Given the description of an element on the screen output the (x, y) to click on. 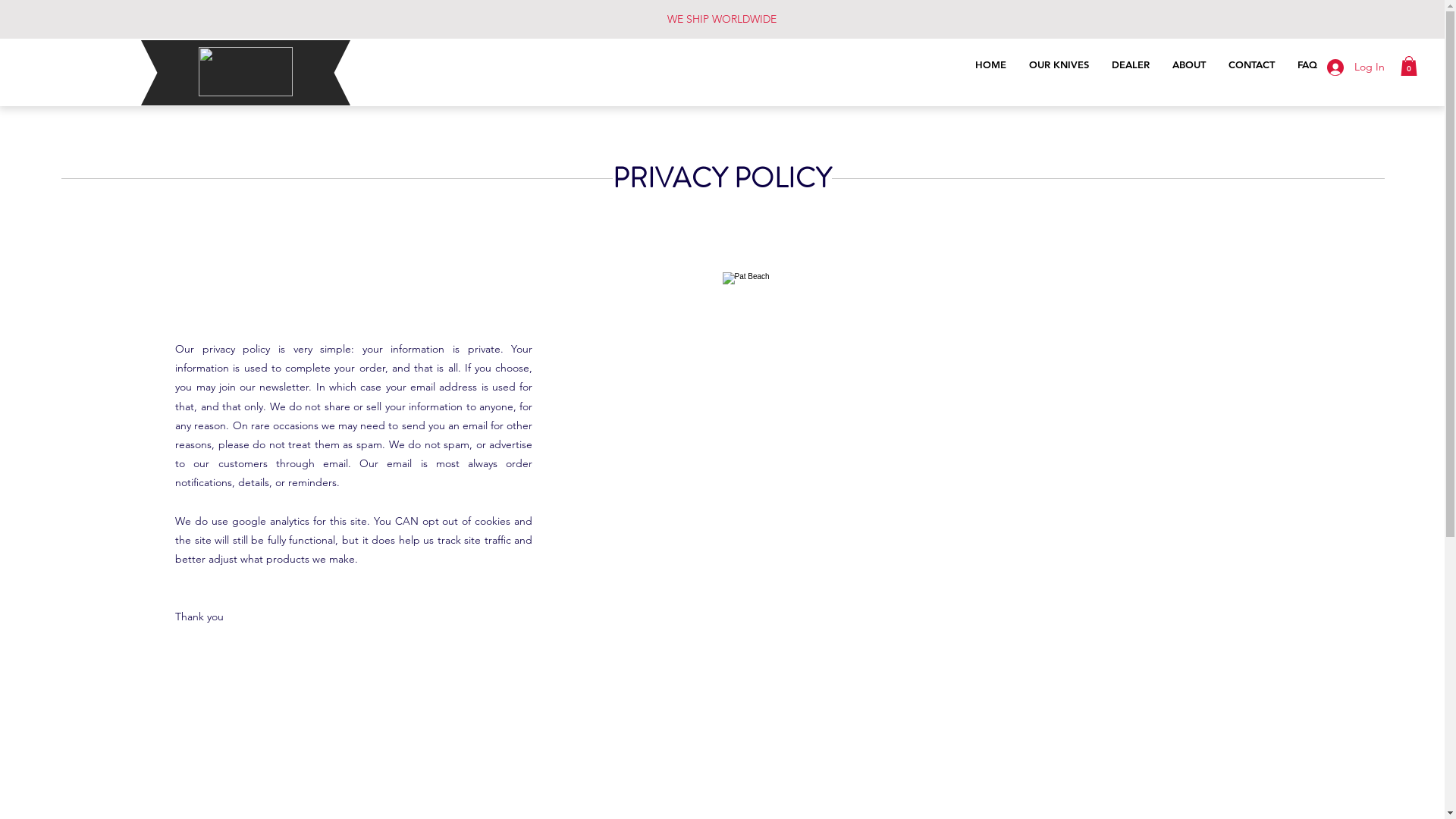
CONTACT Element type: text (1251, 67)
ABOUT Element type: text (1189, 67)
WE SHIP WORLDWIDE Element type: text (721, 18)
Log In Element type: text (1355, 67)
3DK Cerb W no background cropped.png Element type: hover (245, 71)
DEALER Element type: text (1130, 67)
HOME Element type: text (990, 67)
FAQ Element type: text (1307, 67)
0 Element type: text (1408, 65)
OUR KNIVES Element type: text (1058, 67)
